Given the description of an element on the screen output the (x, y) to click on. 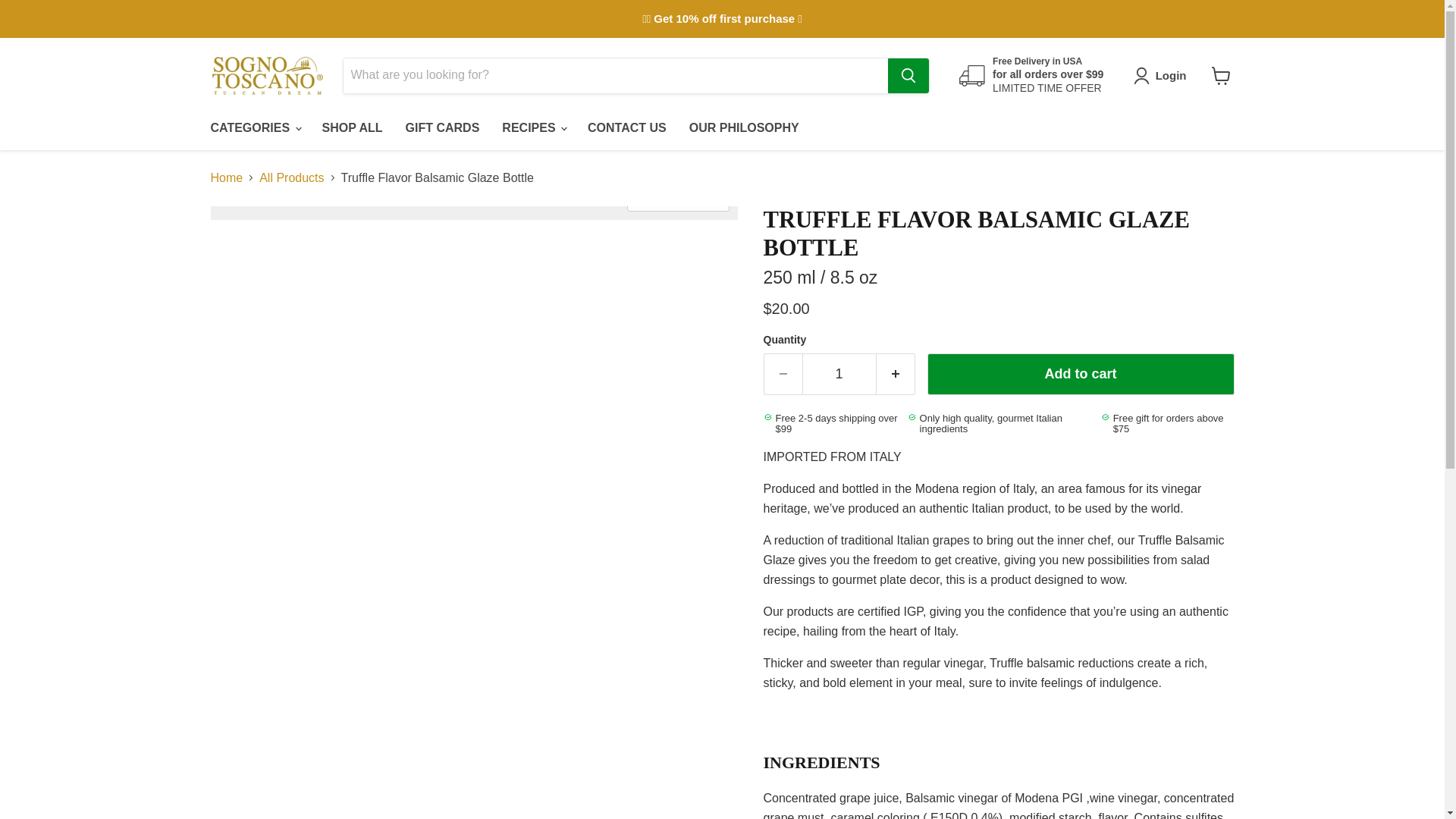
Login (1163, 75)
1 (839, 373)
CONTACT US (627, 128)
View cart (1221, 75)
GIFT CARDS (443, 128)
OUR PHILOSOPHY (744, 128)
SHOP ALL (352, 128)
